Given the description of an element on the screen output the (x, y) to click on. 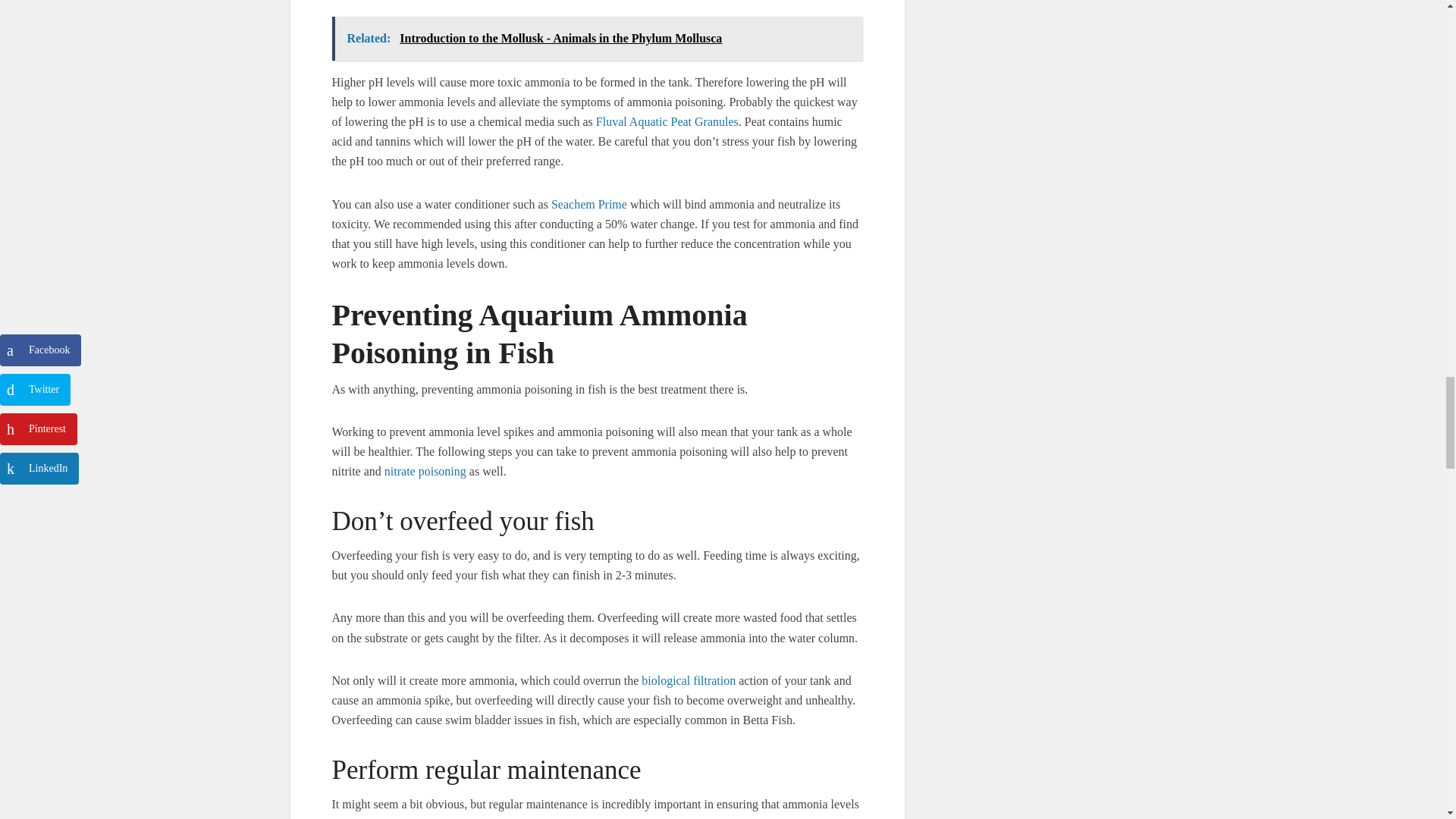
Seachem Prime (589, 203)
Seachem Prime (589, 203)
biological filtration (688, 680)
Fluval Aquatic Peat Granules (666, 121)
Fluval Aquatic Peat Granules (666, 121)
nitrate poisoning (424, 471)
